Given the description of an element on the screen output the (x, y) to click on. 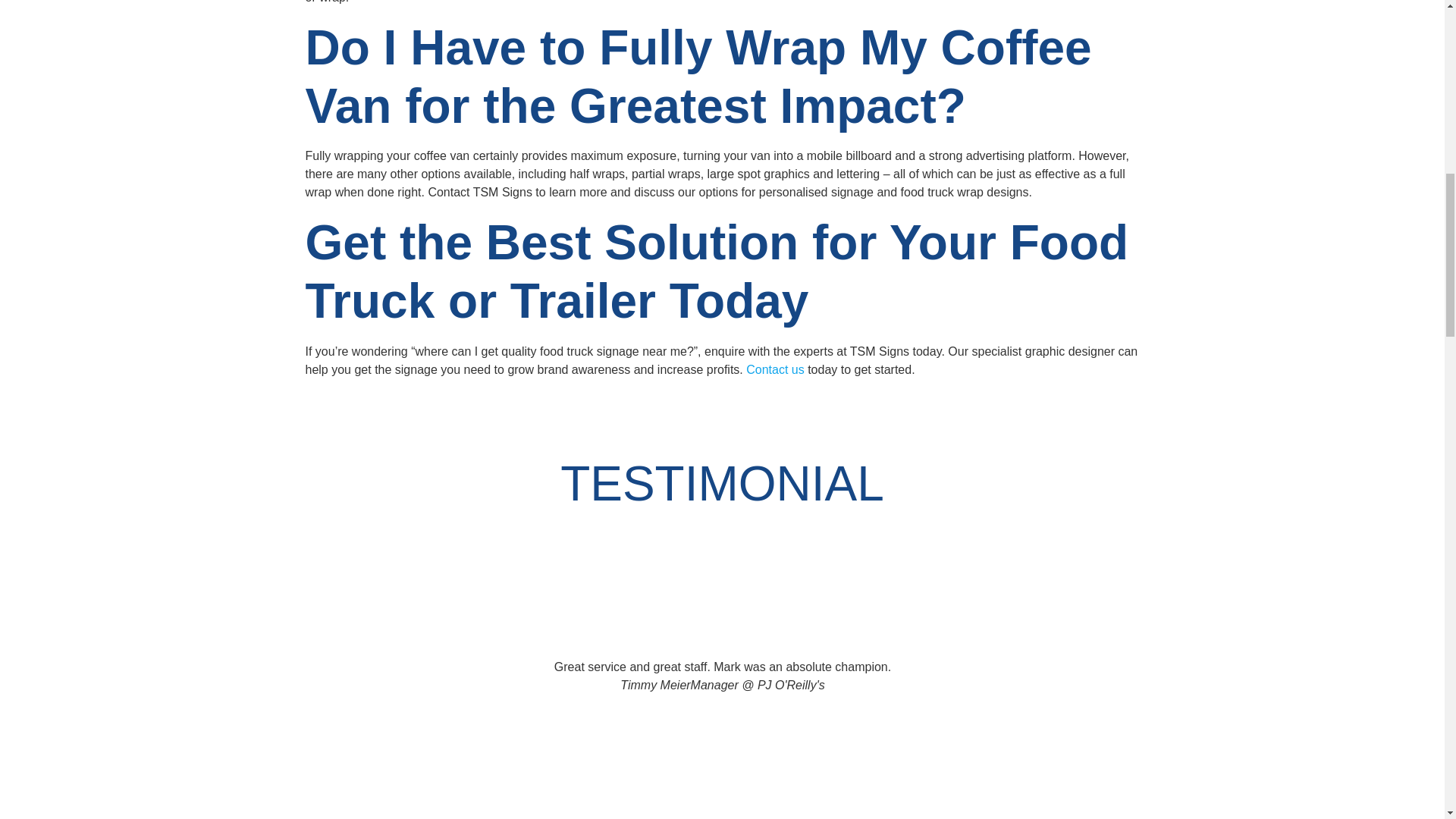
Contact us (774, 369)
